Given the description of an element on the screen output the (x, y) to click on. 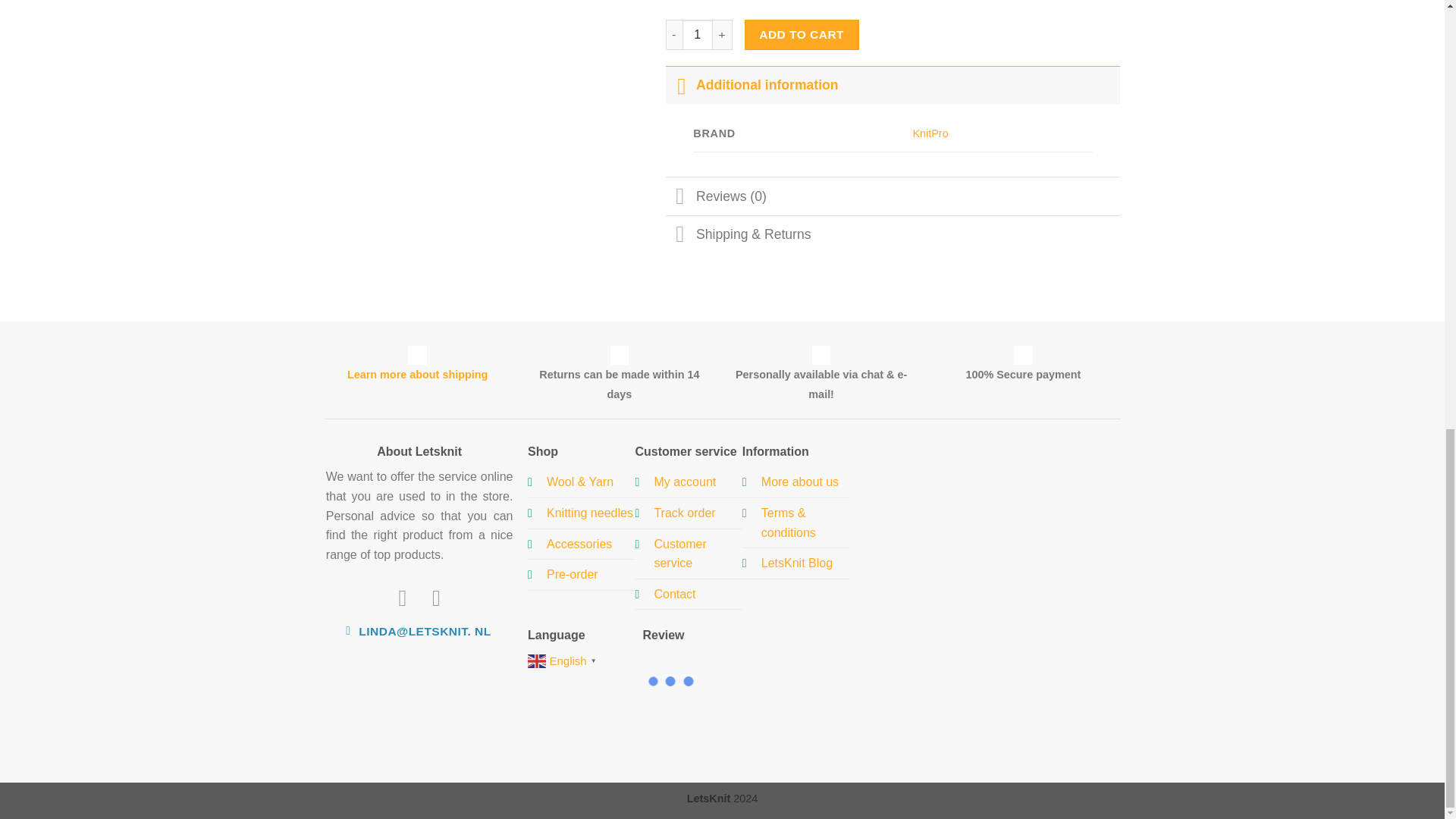
Follow us on Instagram (436, 597)
Follow us on facebook (402, 597)
KnitPro (929, 133)
1 (697, 34)
ADD TO CART (801, 34)
Additional information (893, 85)
